Given the description of an element on the screen output the (x, y) to click on. 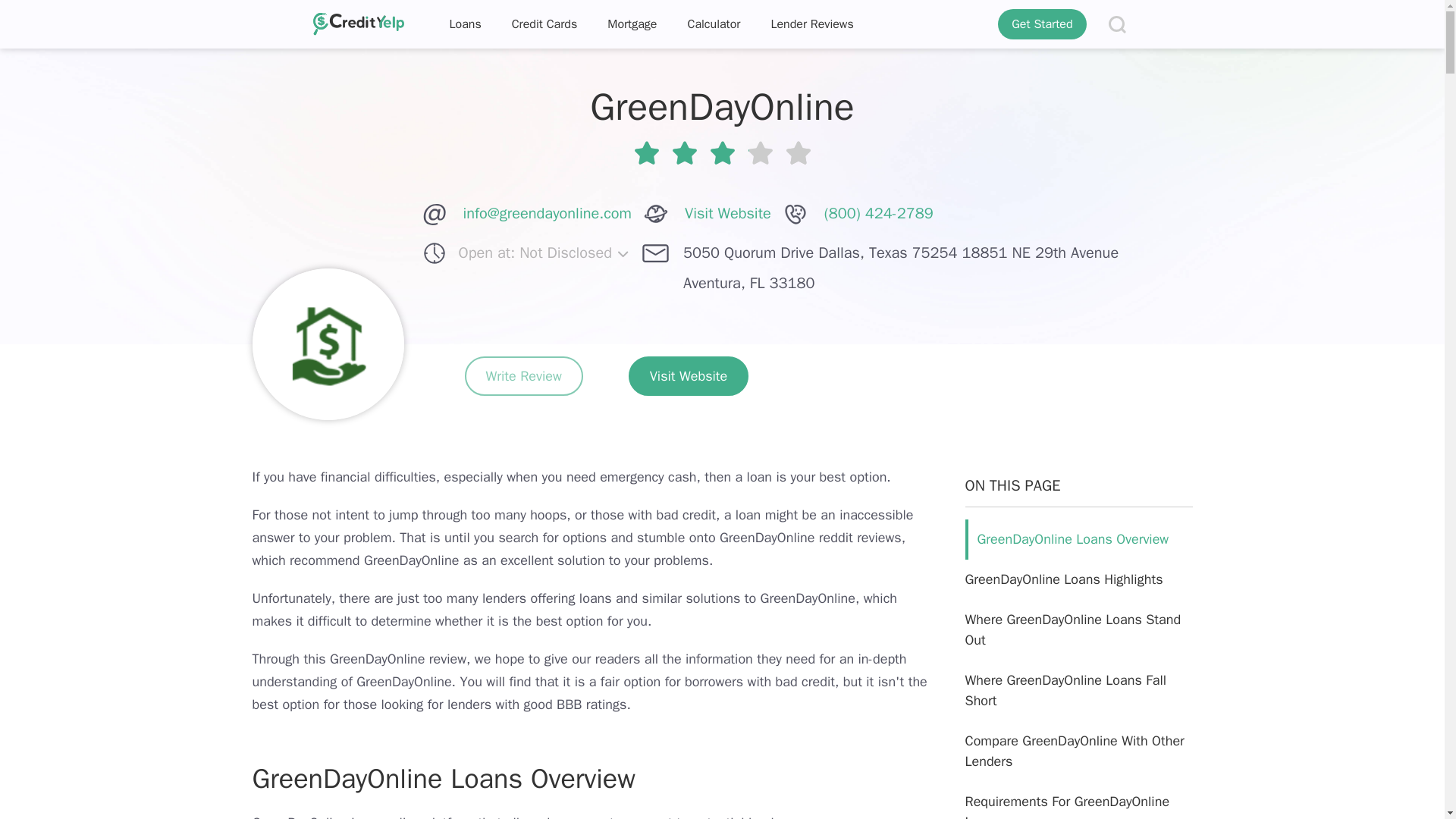
Calculator (713, 24)
Loans (464, 24)
Mortgage (631, 24)
Credit Cards (544, 24)
